Given the description of an element on the screen output the (x, y) to click on. 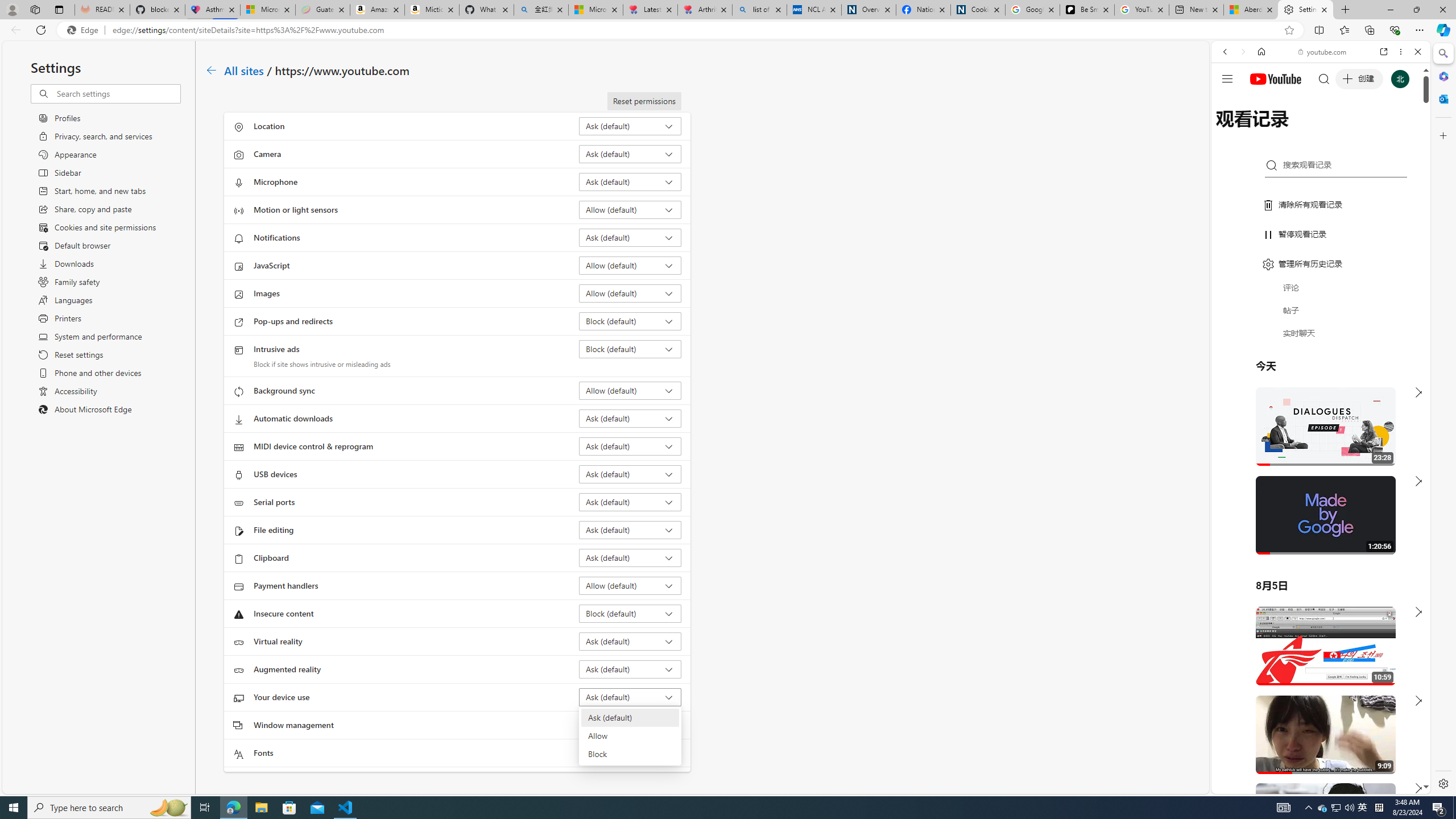
Edge (84, 29)
YouTube (1315, 655)
youtube.com (1322, 51)
US[ju] (1249, 785)
Automatic downloads Ask (default) (630, 418)
